Given the description of an element on the screen output the (x, y) to click on. 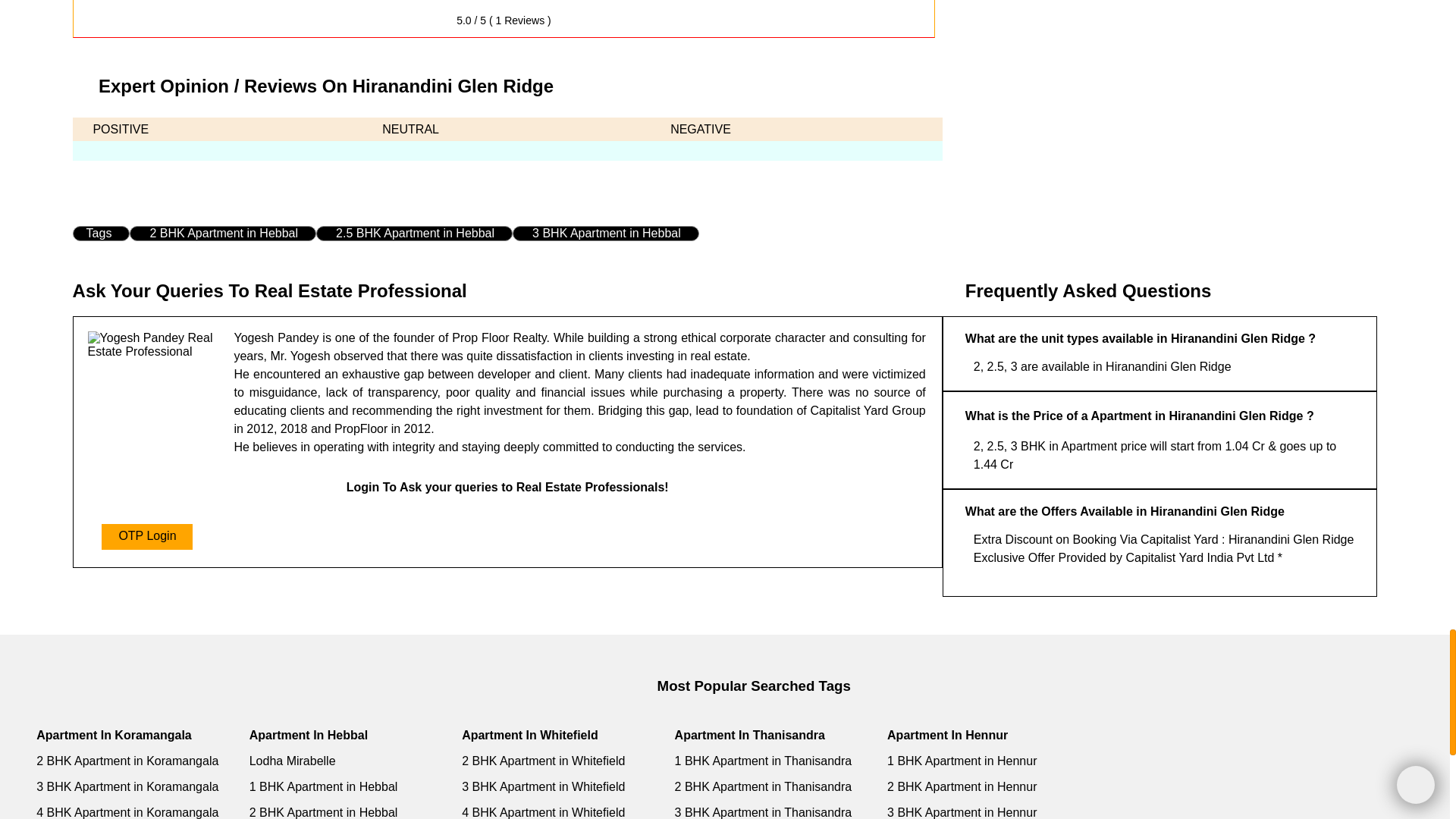
2 BHK Apartment in Hebbal (220, 232)
Lodha Mirabelle (346, 761)
Yogesh Pandey Top Real Estate Expert (152, 344)
